Given the description of an element on the screen output the (x, y) to click on. 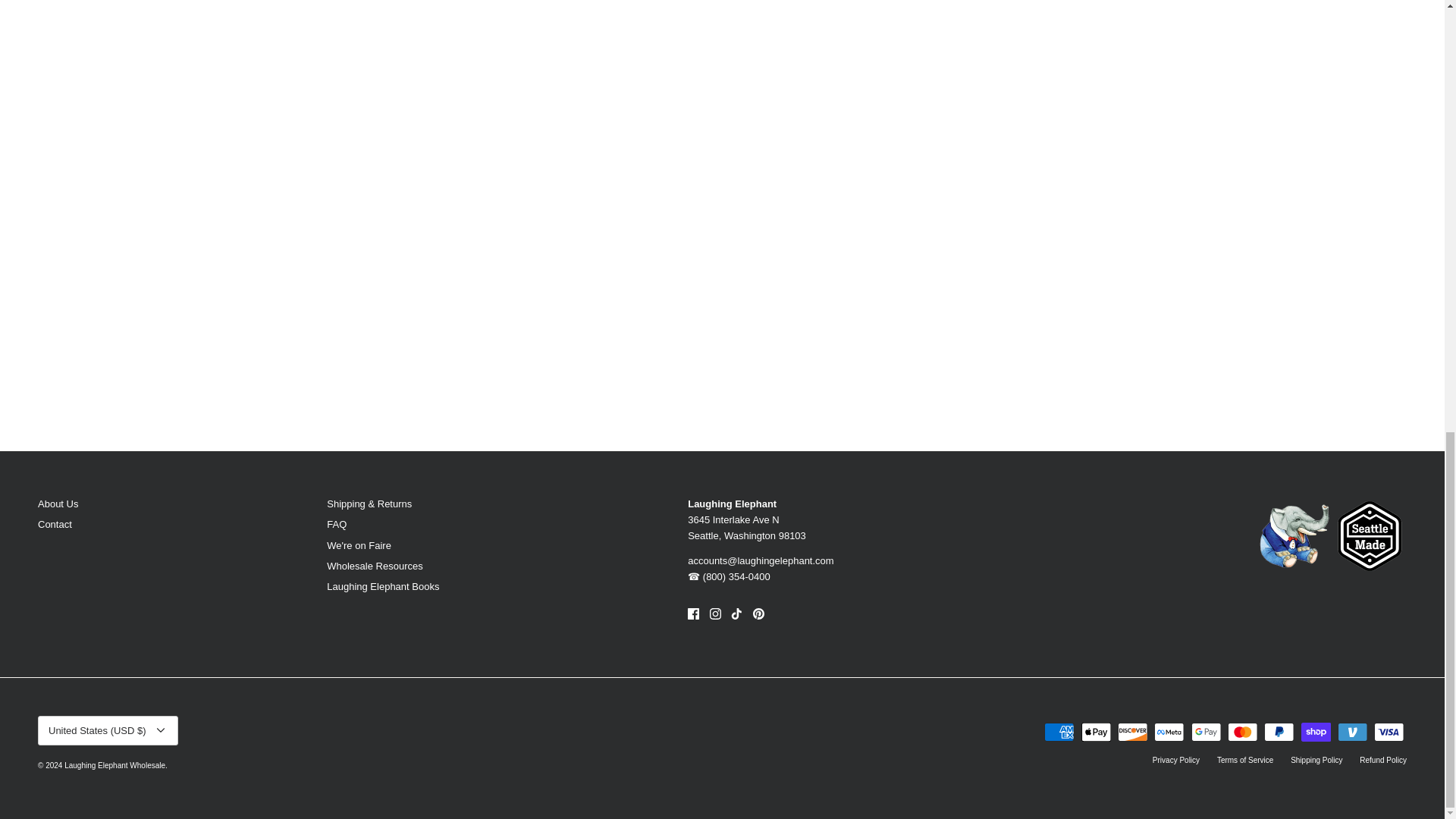
Instagram (715, 613)
Facebook (692, 613)
Pinterest (758, 613)
American Express (1058, 732)
